Given the description of an element on the screen output the (x, y) to click on. 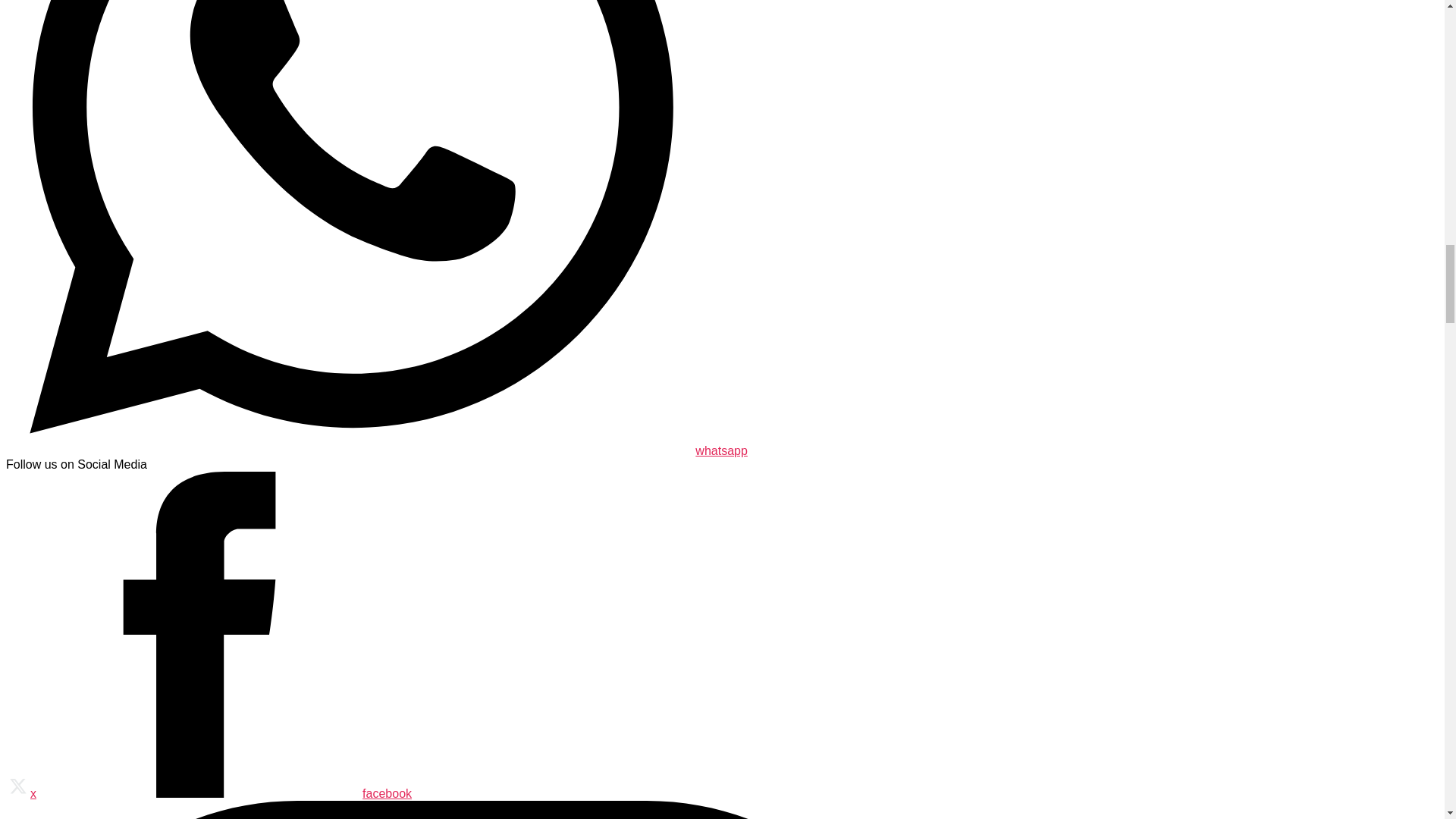
facebook (224, 793)
x (20, 793)
whatsapp (376, 450)
